Given the description of an element on the screen output the (x, y) to click on. 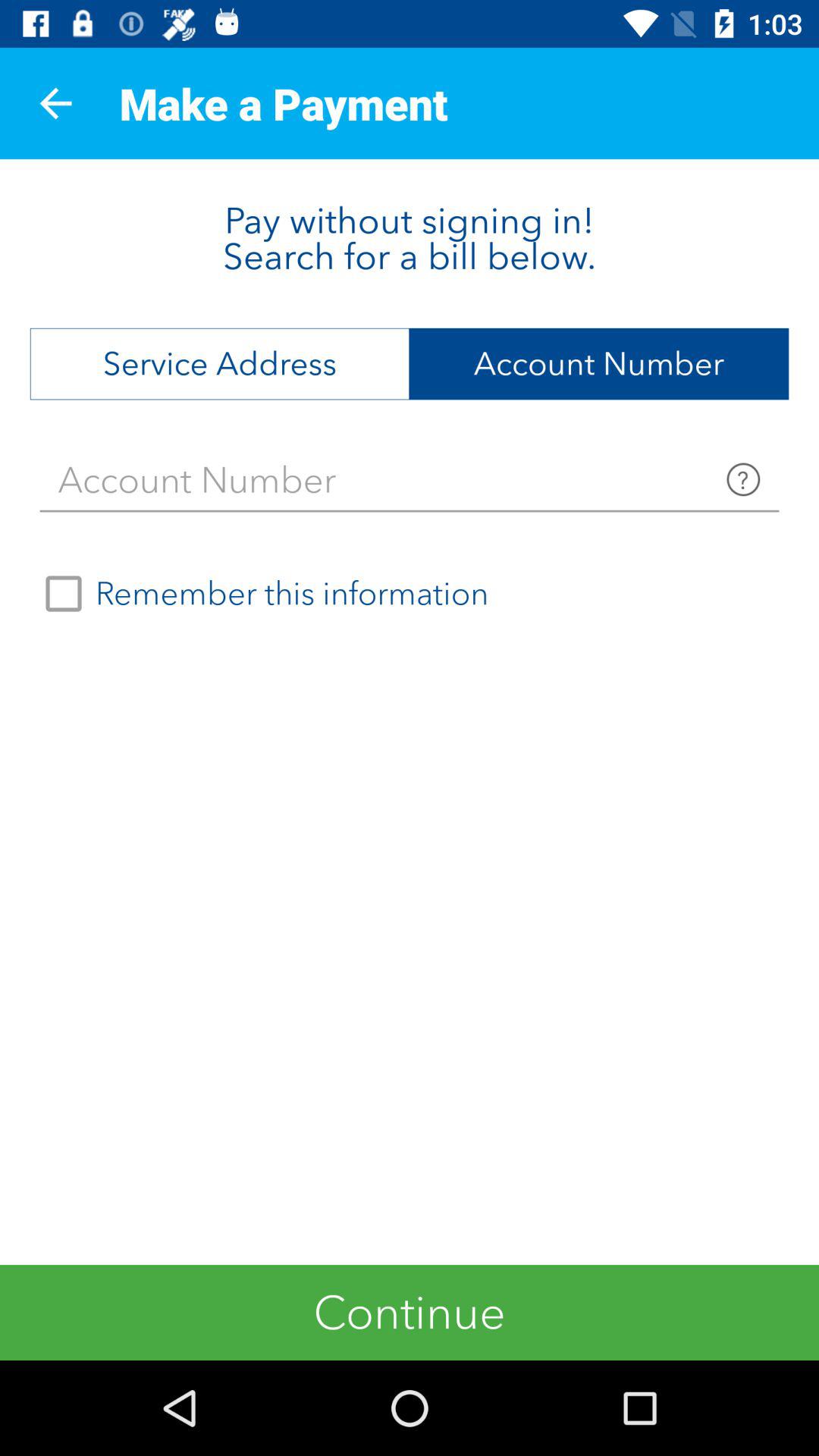
select the icon at the top right corner (598, 363)
